Given the description of an element on the screen output the (x, y) to click on. 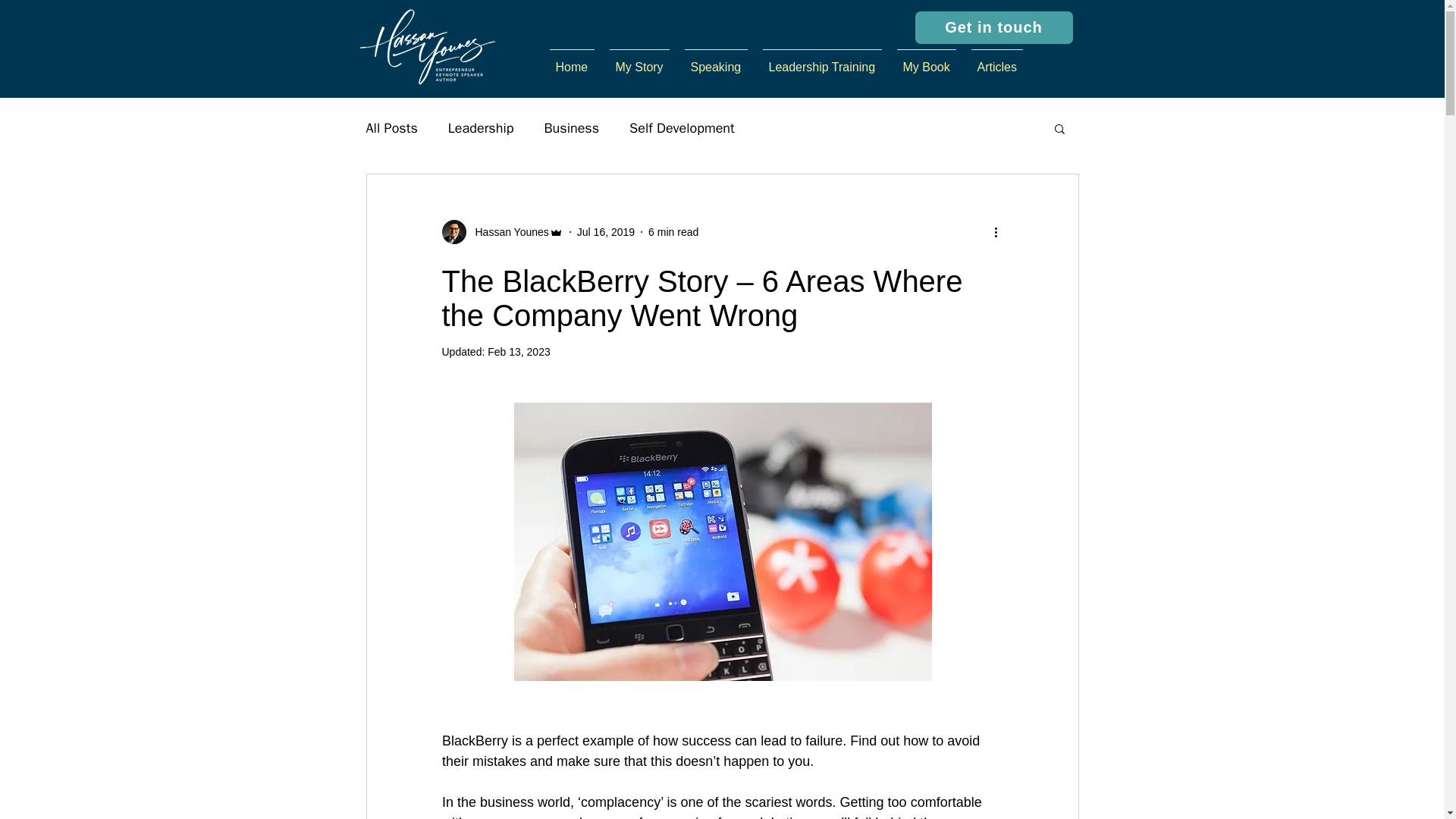
All Posts (390, 127)
Feb 13, 2023 (518, 351)
My Book (925, 60)
Business (570, 127)
Speaking (715, 60)
Leadership (480, 127)
Home (571, 60)
Hassan Younes (506, 232)
Self Development (681, 127)
Articles (995, 60)
Get in touch (992, 27)
6 min read (672, 232)
Jul 16, 2019 (605, 232)
My Story (639, 60)
Leadership Training (822, 60)
